Given the description of an element on the screen output the (x, y) to click on. 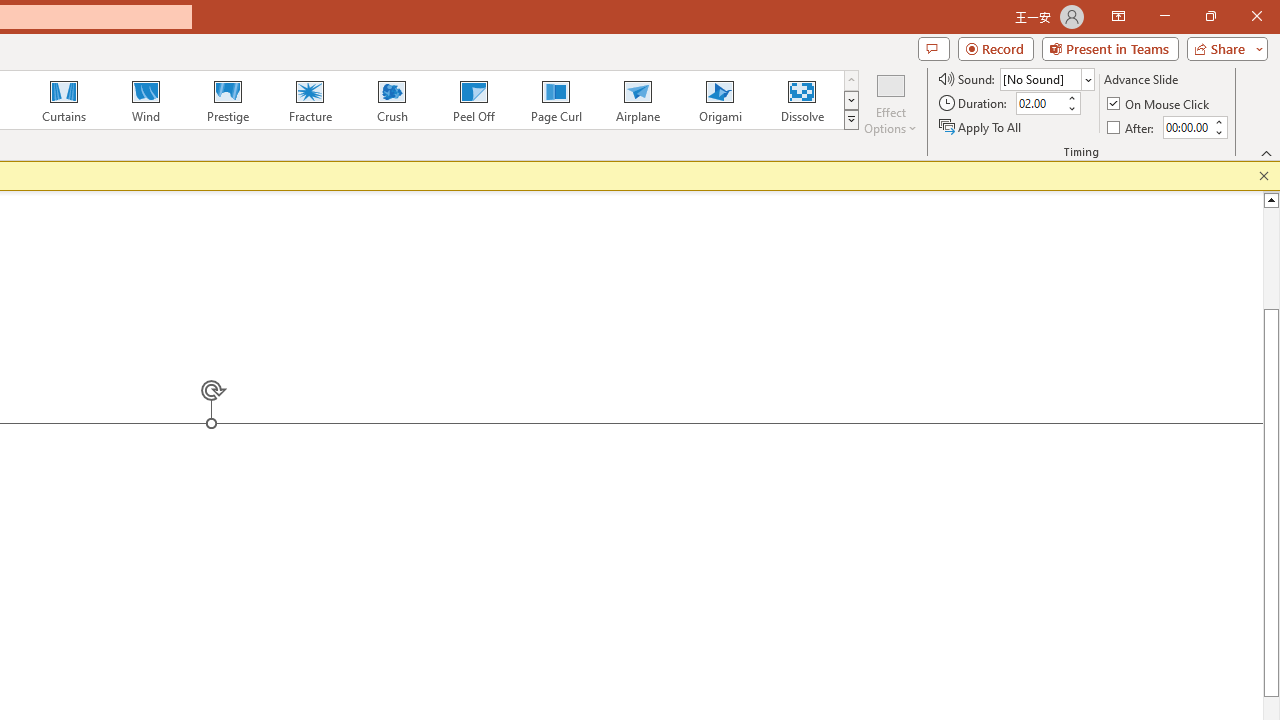
Origami (719, 100)
Transition Effects (850, 120)
Effect Options (890, 102)
Fracture (309, 100)
